Given the description of an element on the screen output the (x, y) to click on. 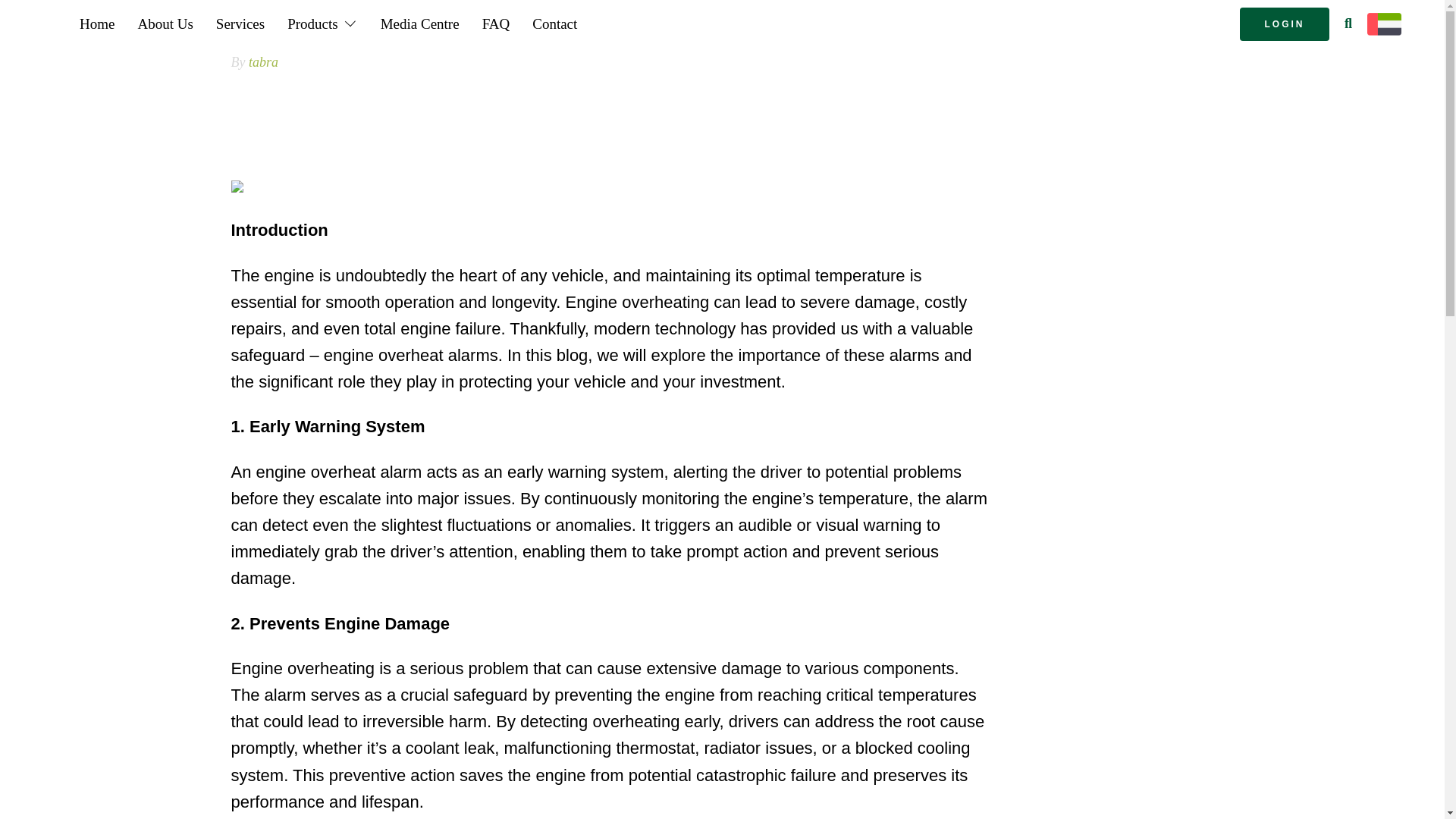
About Us (164, 23)
Media Centre (419, 23)
Contact (554, 23)
Home (96, 23)
Products (322, 23)
LOGIN (1284, 23)
FAQ (495, 23)
Services (240, 23)
